Given the description of an element on the screen output the (x, y) to click on. 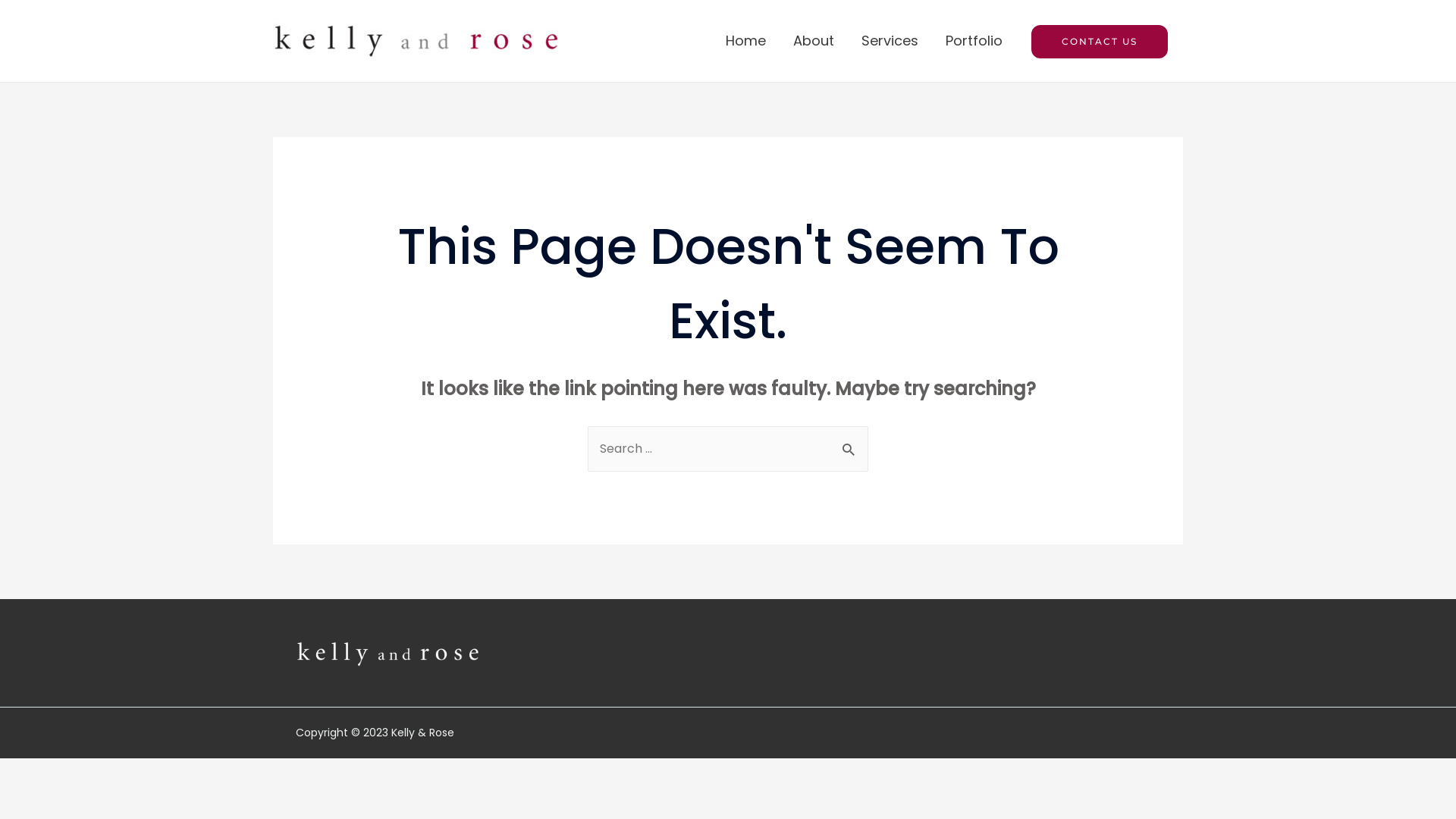
CONTACT US Element type: text (1099, 41)
Services Element type: text (889, 40)
Search Element type: text (851, 440)
About Element type: text (813, 40)
Portfolio Element type: text (973, 40)
Home Element type: text (745, 40)
